Given the description of an element on the screen output the (x, y) to click on. 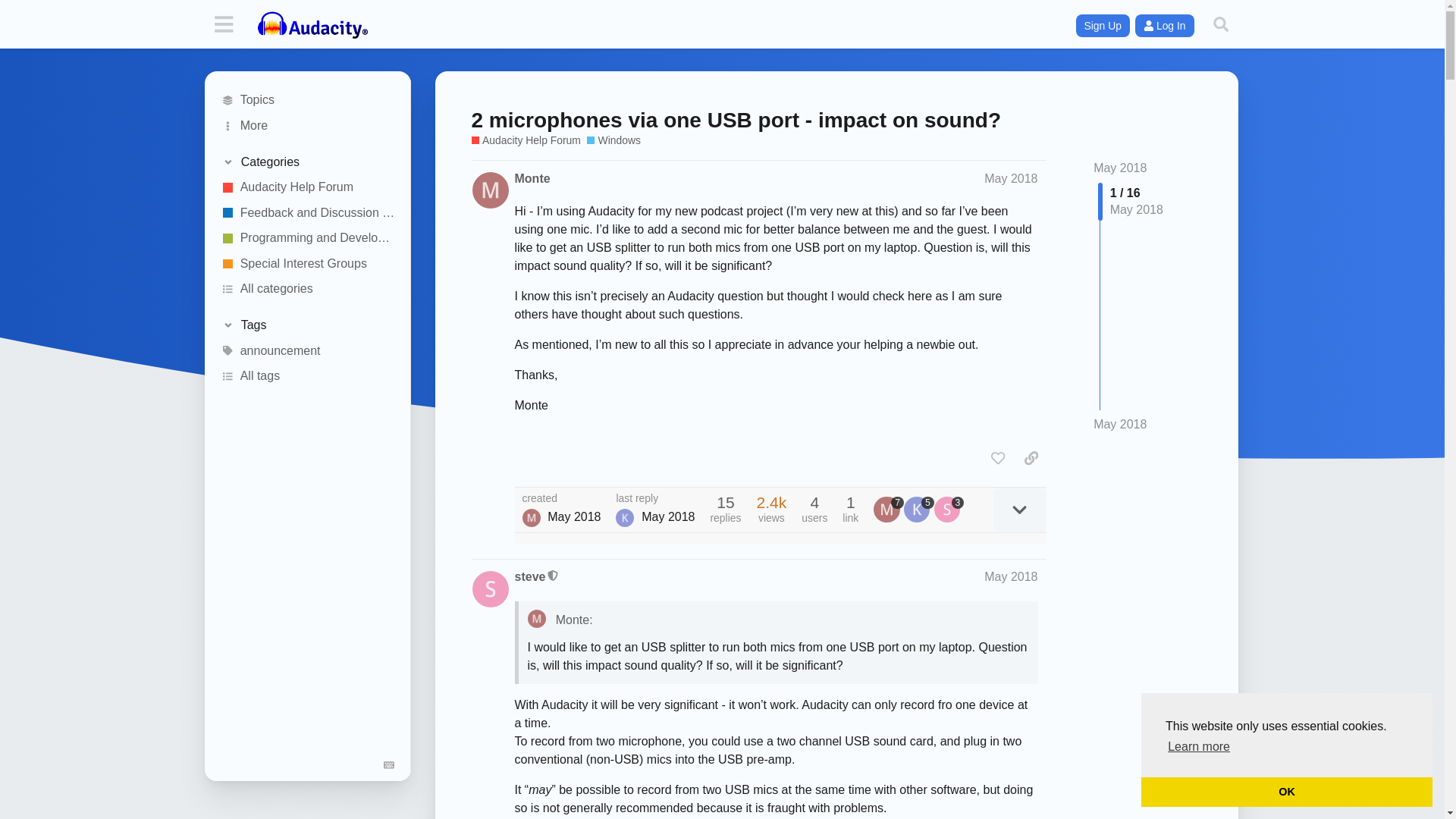
Log In (1164, 25)
All categories (307, 289)
5 (919, 509)
Monte (531, 178)
May 2018 (1120, 167)
Feedback and Discussion Forum (307, 212)
All tags (307, 376)
last reply (654, 498)
Topics which are adjacently related to Audacity go here. (307, 263)
Jump to the first post (1120, 167)
Toggle section (306, 325)
All topics (307, 100)
May 2018 (1010, 178)
2 microphones via one USB port - impact on sound? (736, 119)
Programming and Development (307, 238)
